Given the description of an element on the screen output the (x, y) to click on. 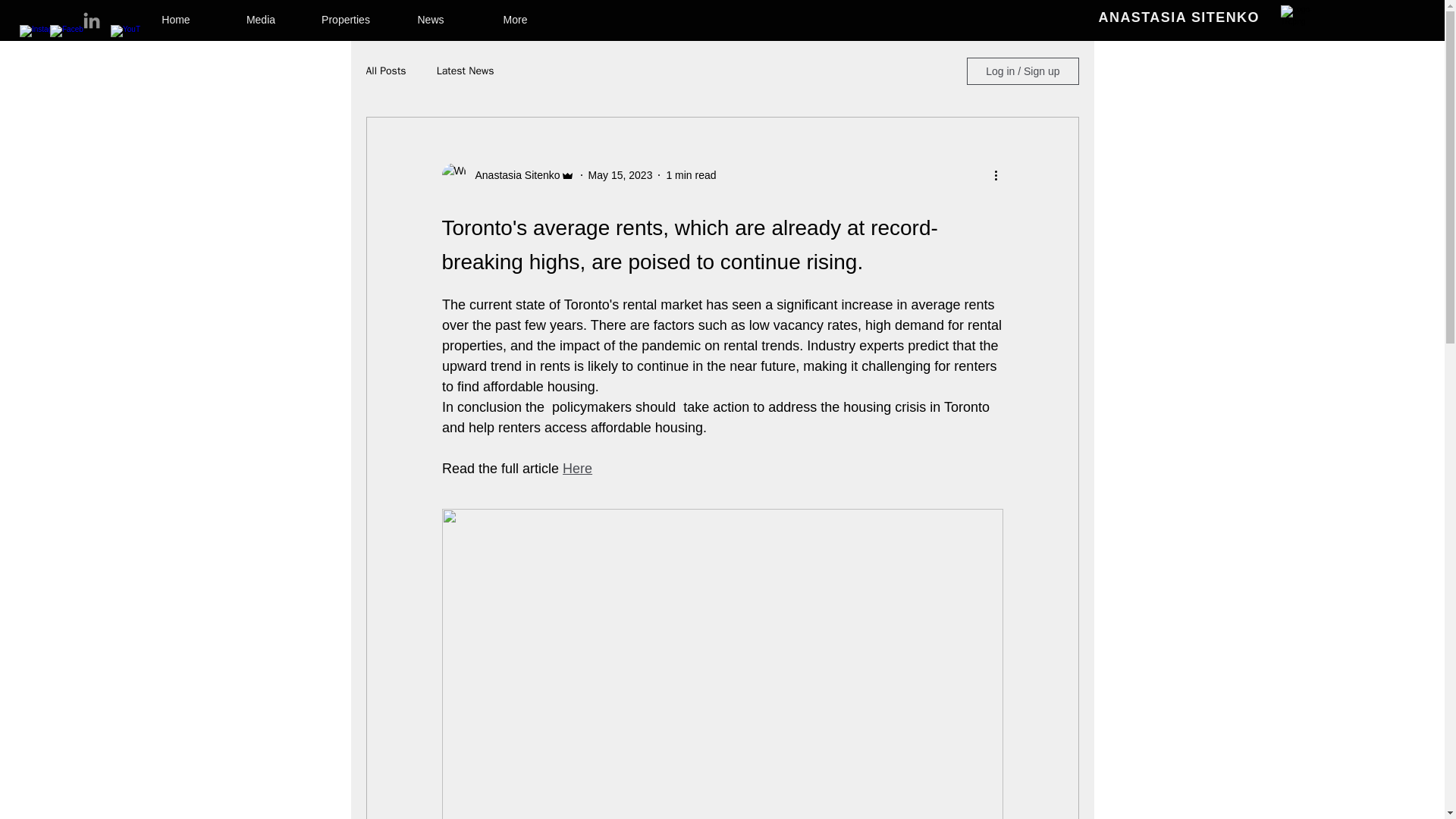
Latest News (465, 70)
Home (175, 13)
Media (260, 13)
Properties (345, 13)
May 15, 2023 (620, 174)
Here (577, 468)
News (430, 13)
All Posts (385, 70)
1 min read (690, 174)
Anastasia Sitenko (512, 174)
